Given the description of an element on the screen output the (x, y) to click on. 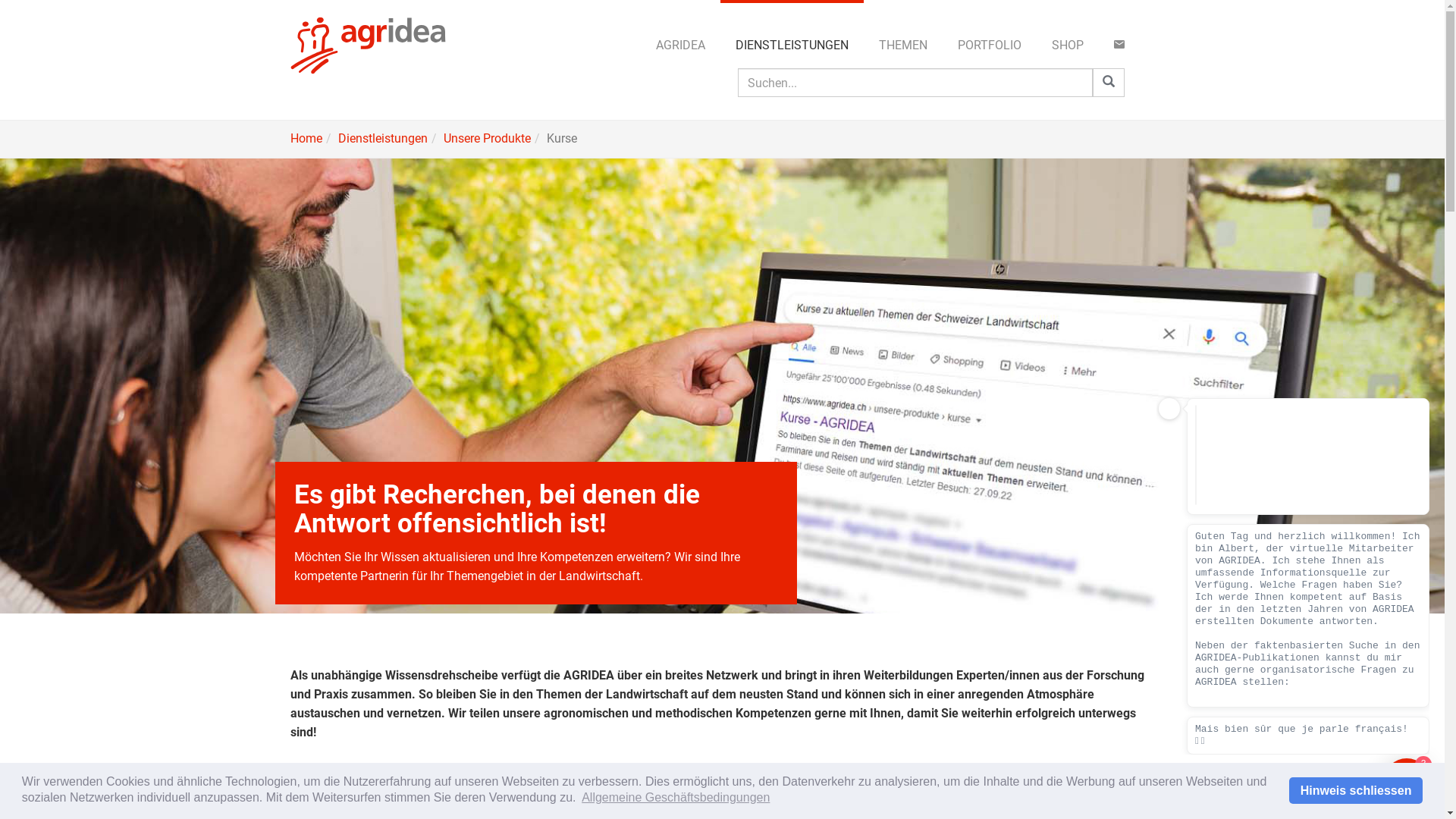
Kontakt Element type: hover (1118, 45)
Home Element type: text (305, 138)
Hinweis schliessen Element type: text (1355, 790)
DIENSTLEISTUNGEN Element type: text (791, 45)
Dienstleistungen Element type: text (382, 138)
PORTFOLIO Element type: text (988, 45)
AGRIDEA Element type: text (679, 45)
THEMEN Element type: text (901, 45)
SHOP Element type: text (1066, 45)
Unsere Produkte Element type: text (486, 138)
